Given the description of an element on the screen output the (x, y) to click on. 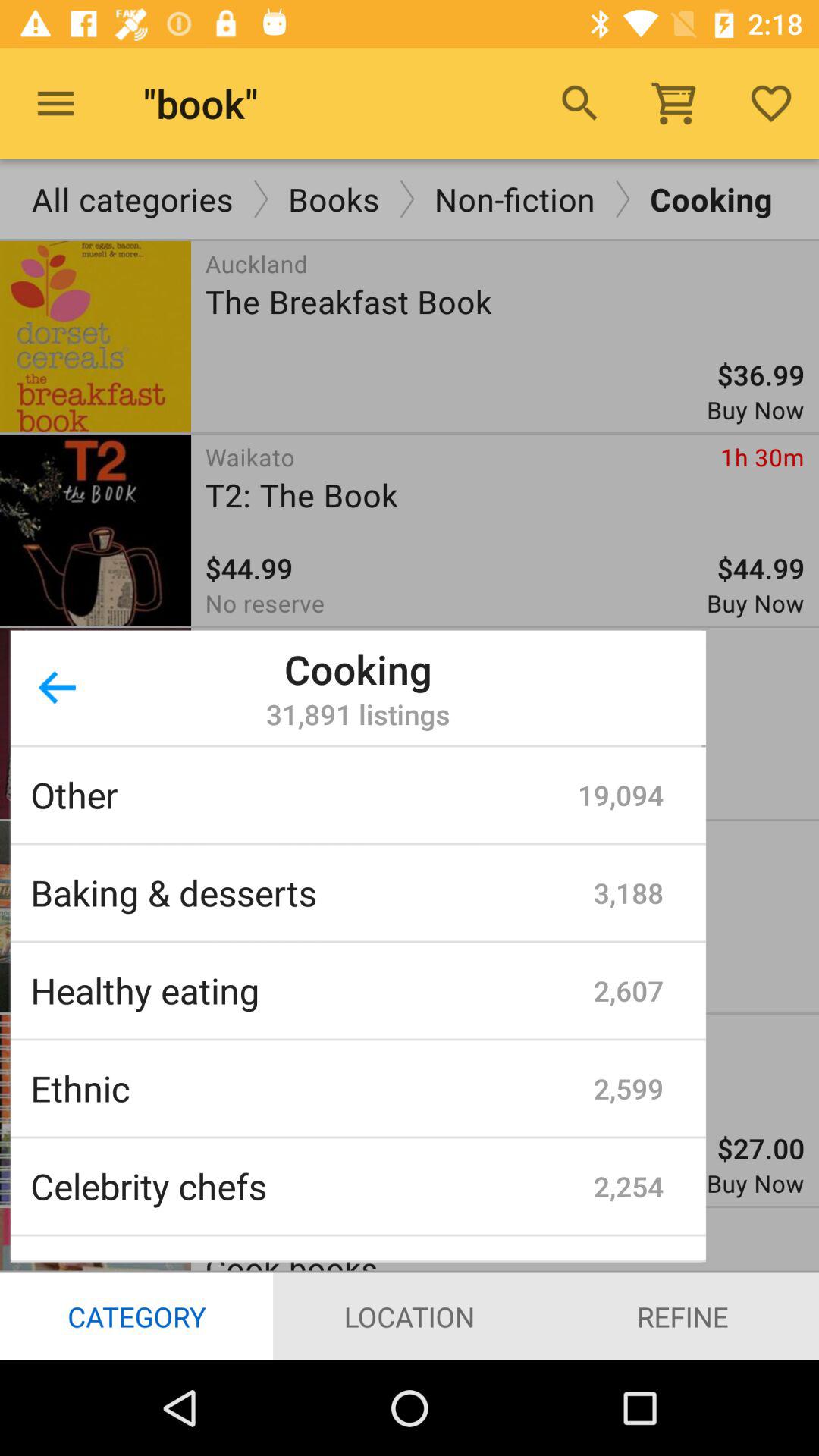
flip until 19,094 icon (620, 794)
